Given the description of an element on the screen output the (x, y) to click on. 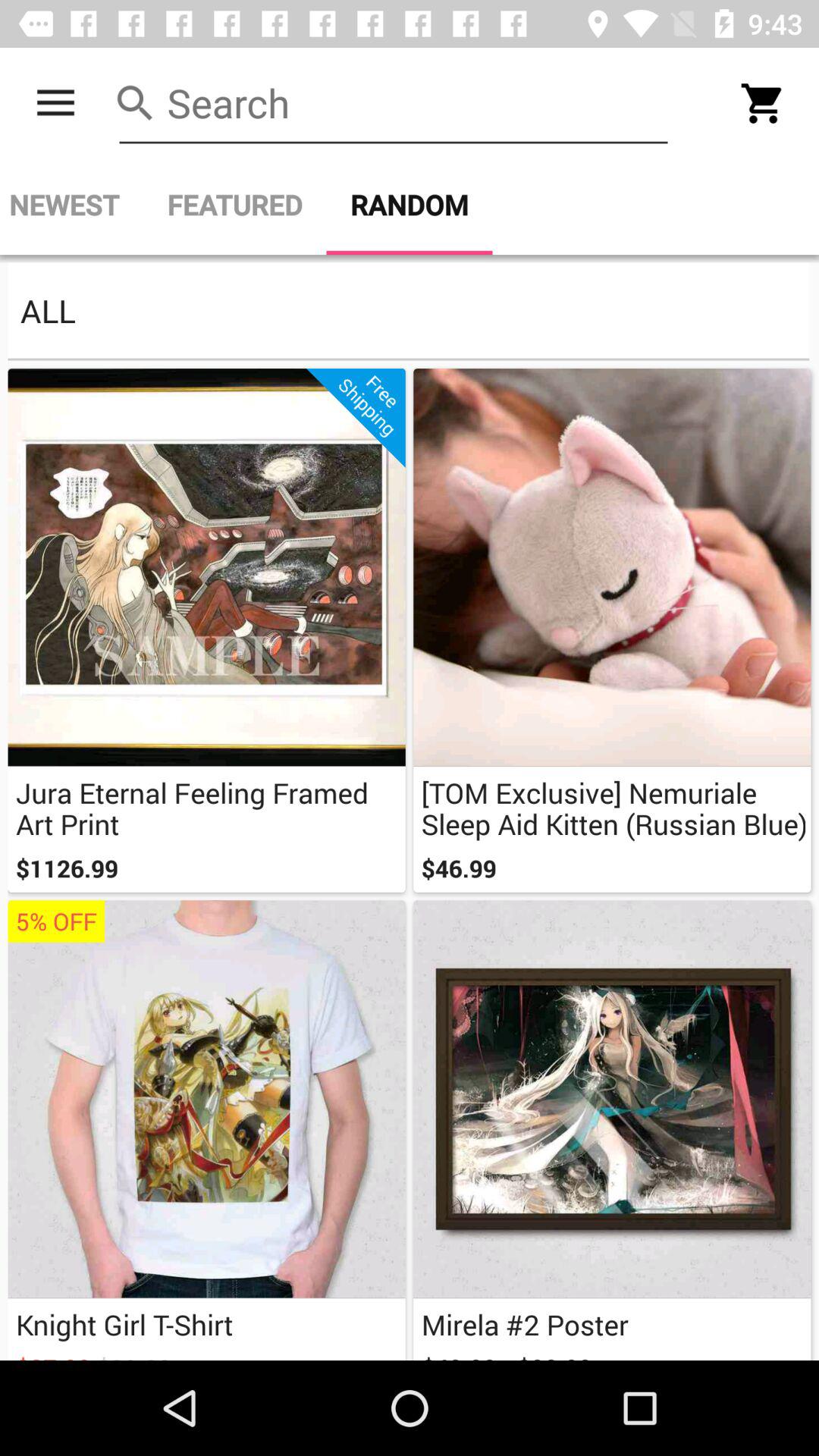
turn off item next to newest icon (234, 204)
